Given the description of an element on the screen output the (x, y) to click on. 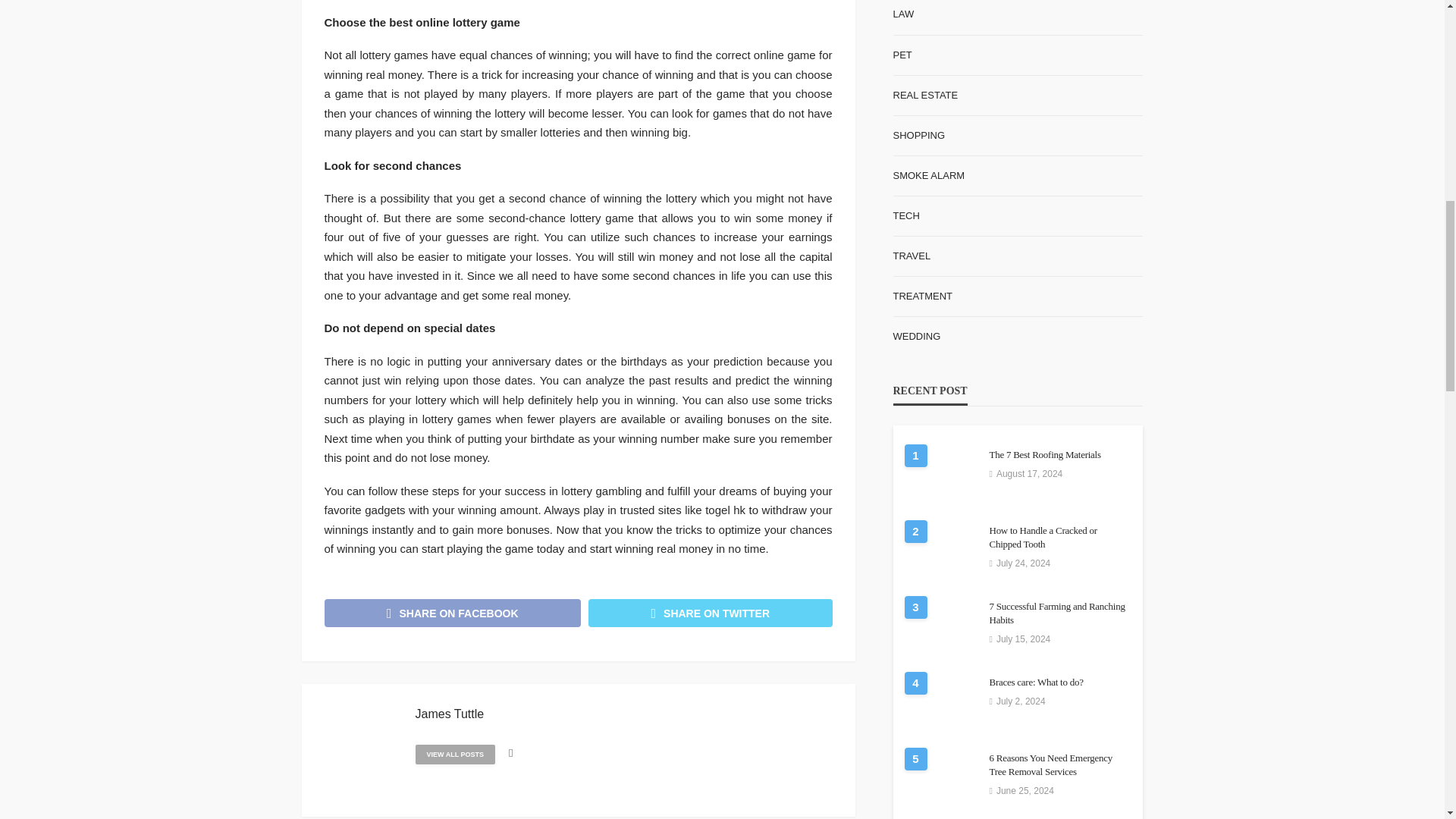
SHARE ON FACEBOOK (452, 612)
SHARE ON TWITTER (709, 612)
James Tuttle (449, 713)
VIEW ALL POSTS (455, 754)
